Given the description of an element on the screen output the (x, y) to click on. 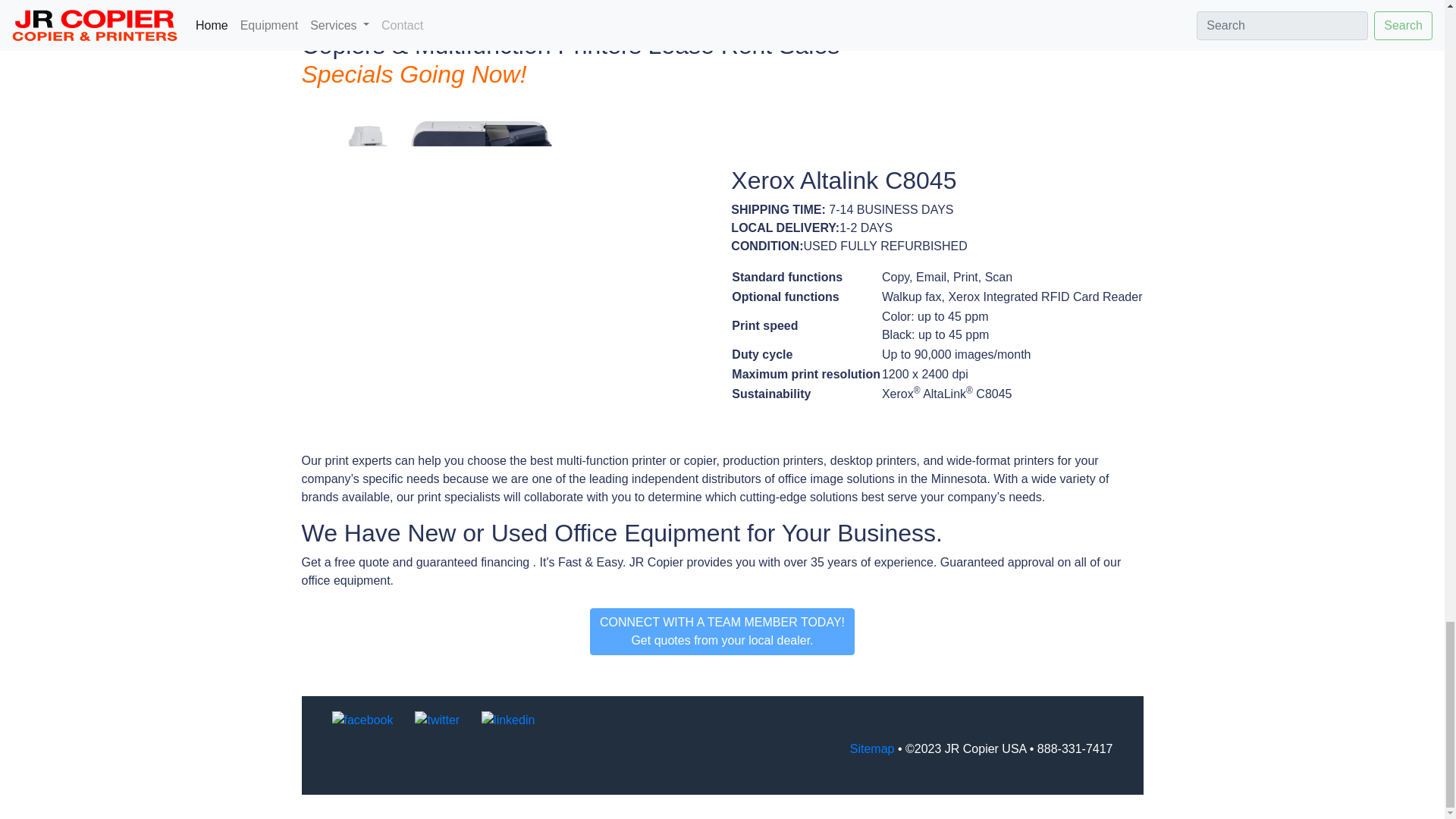
Sitemap (872, 748)
Sitemap (872, 748)
